Given the description of an element on the screen output the (x, y) to click on. 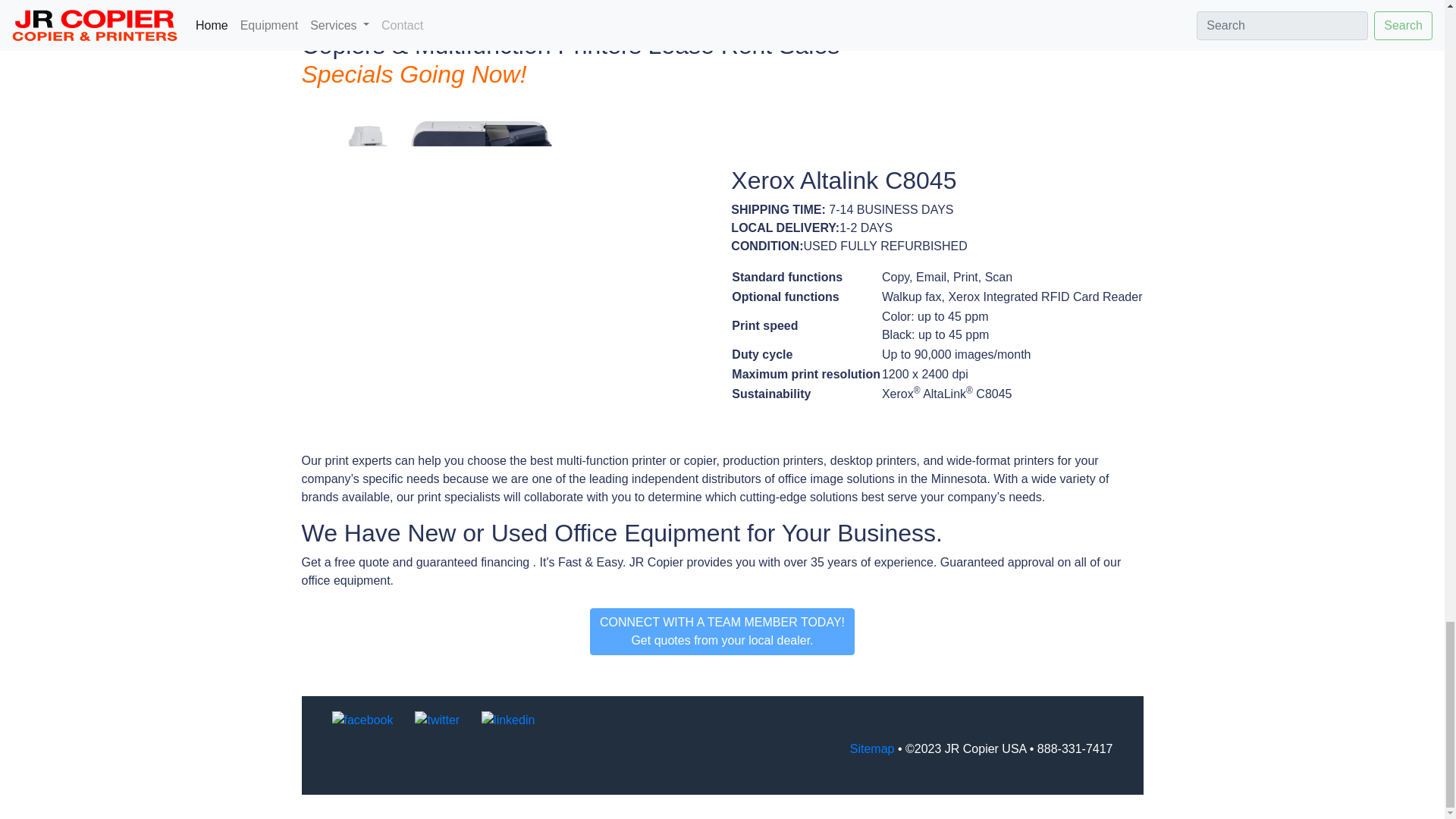
Sitemap (872, 748)
Sitemap (872, 748)
